Given the description of an element on the screen output the (x, y) to click on. 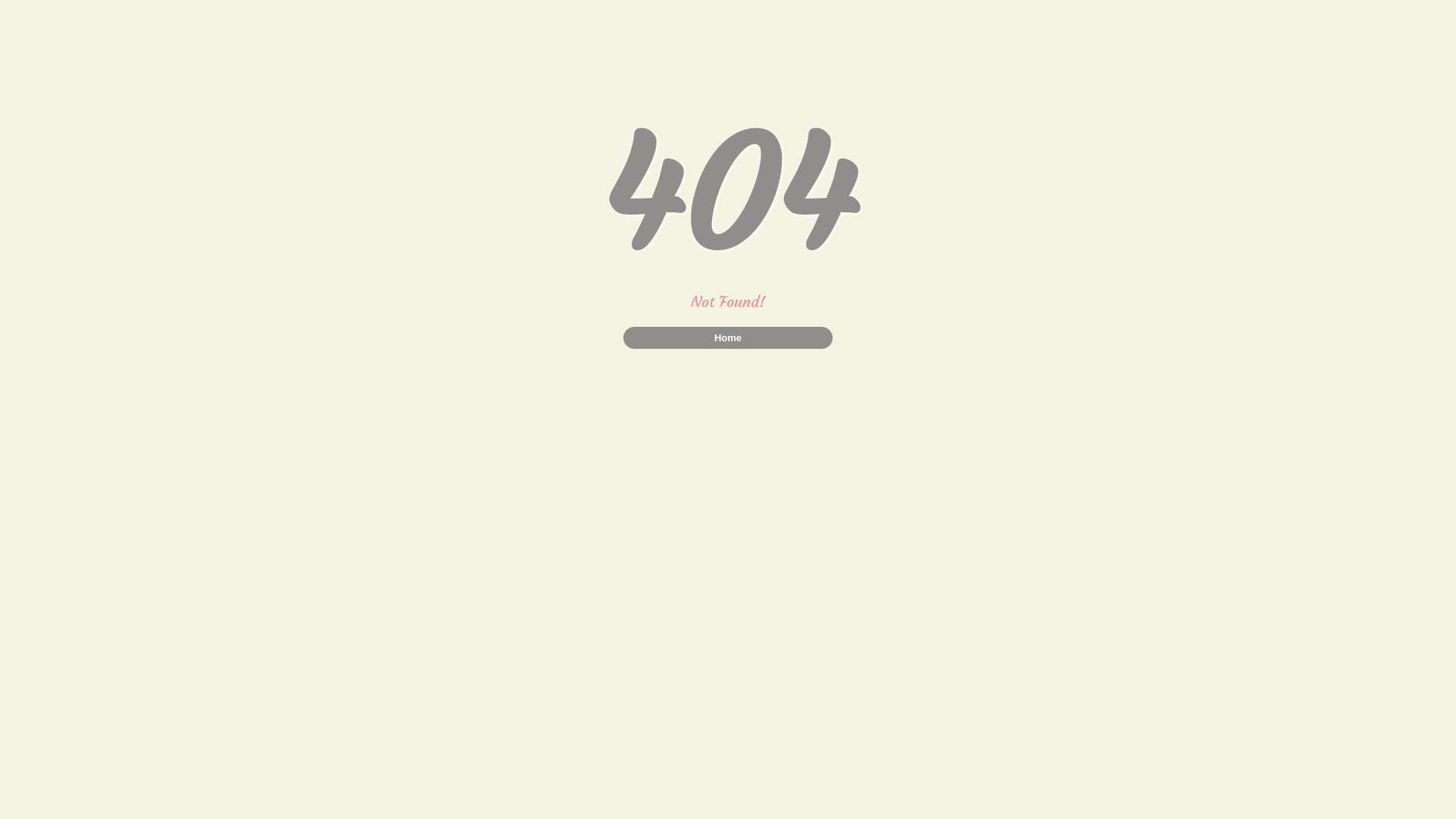
Home Element type: text (727, 337)
